Given the description of an element on the screen output the (x, y) to click on. 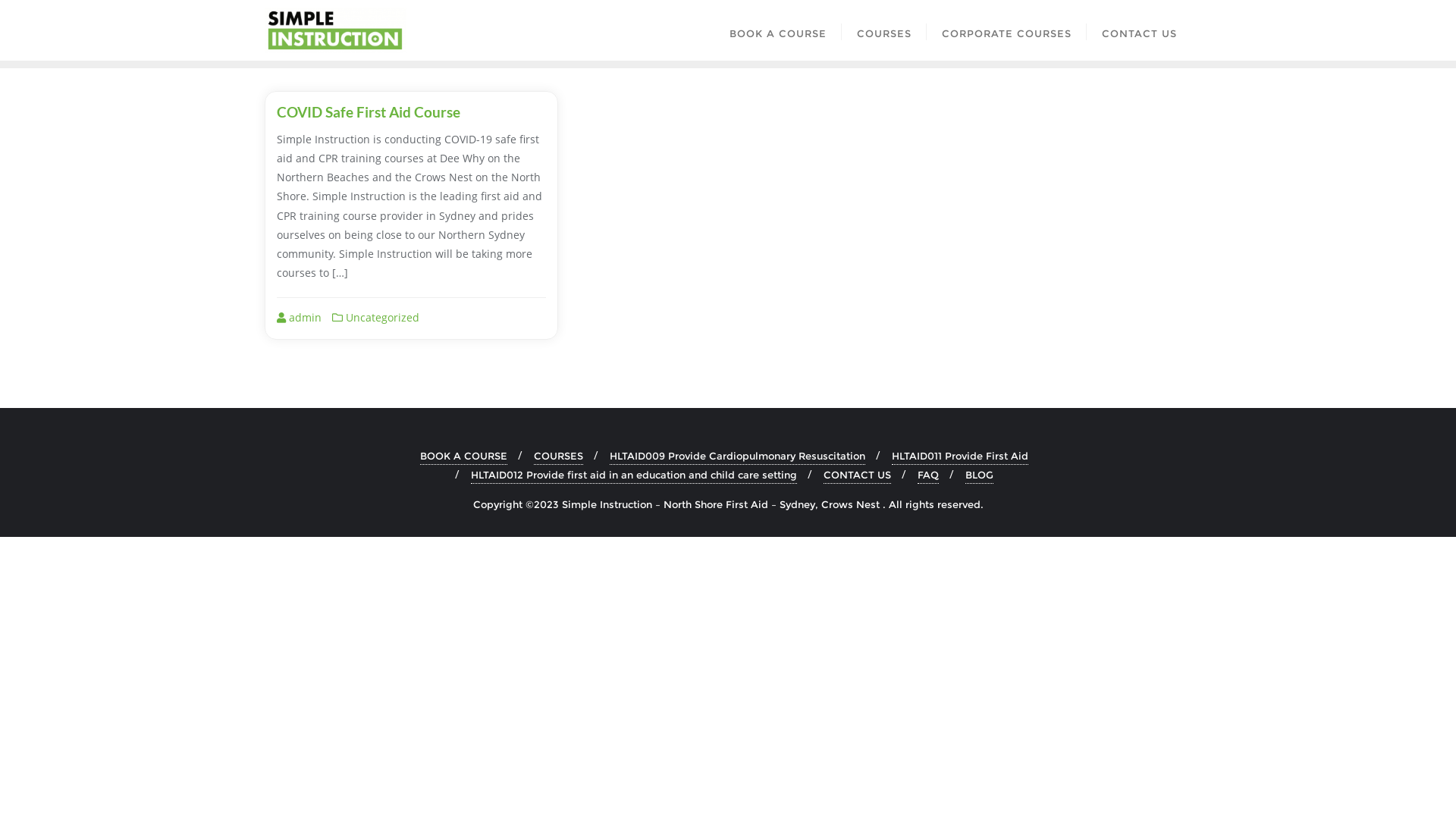
HLTAID009 Provide Cardiopulmonary Resuscitation Element type: text (737, 455)
Uncategorized Element type: text (375, 317)
BOOK A COURSE Element type: text (463, 455)
FAQ Element type: text (927, 474)
CORPORATE COURSES Element type: text (1006, 29)
COVID Safe First Aid Course Element type: text (367, 111)
COURSES Element type: text (558, 455)
BLOG Element type: text (979, 474)
BOOK A COURSE Element type: text (777, 29)
admin Element type: text (298, 317)
HLTAID011 Provide First Aid Element type: text (959, 455)
COURSES Element type: text (883, 29)
CONTACT US Element type: text (1138, 29)
CONTACT US Element type: text (857, 474)
